Given the description of an element on the screen output the (x, y) to click on. 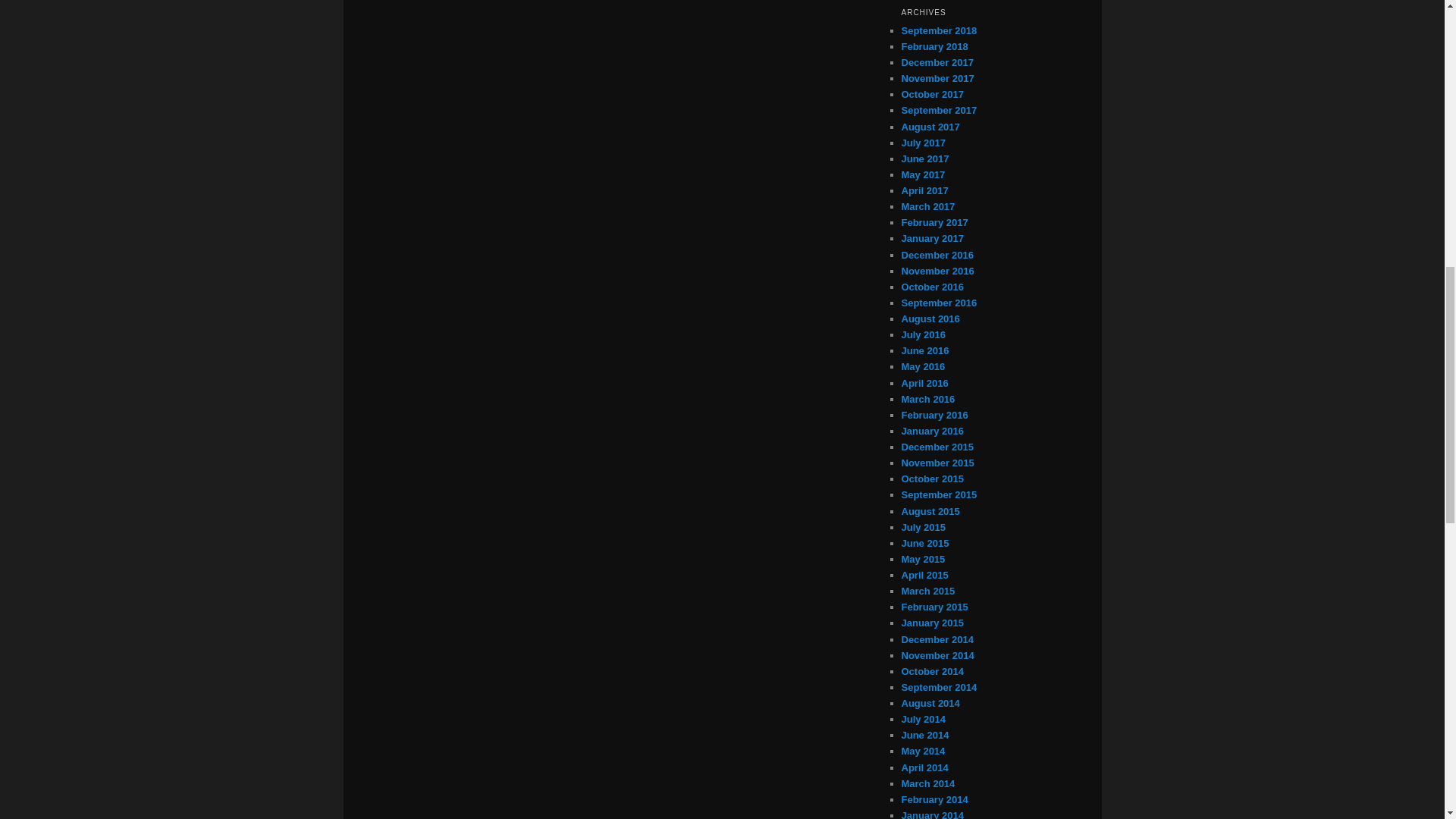
December 2017 (936, 61)
February 2018 (934, 46)
September 2018 (938, 30)
